Given the description of an element on the screen output the (x, y) to click on. 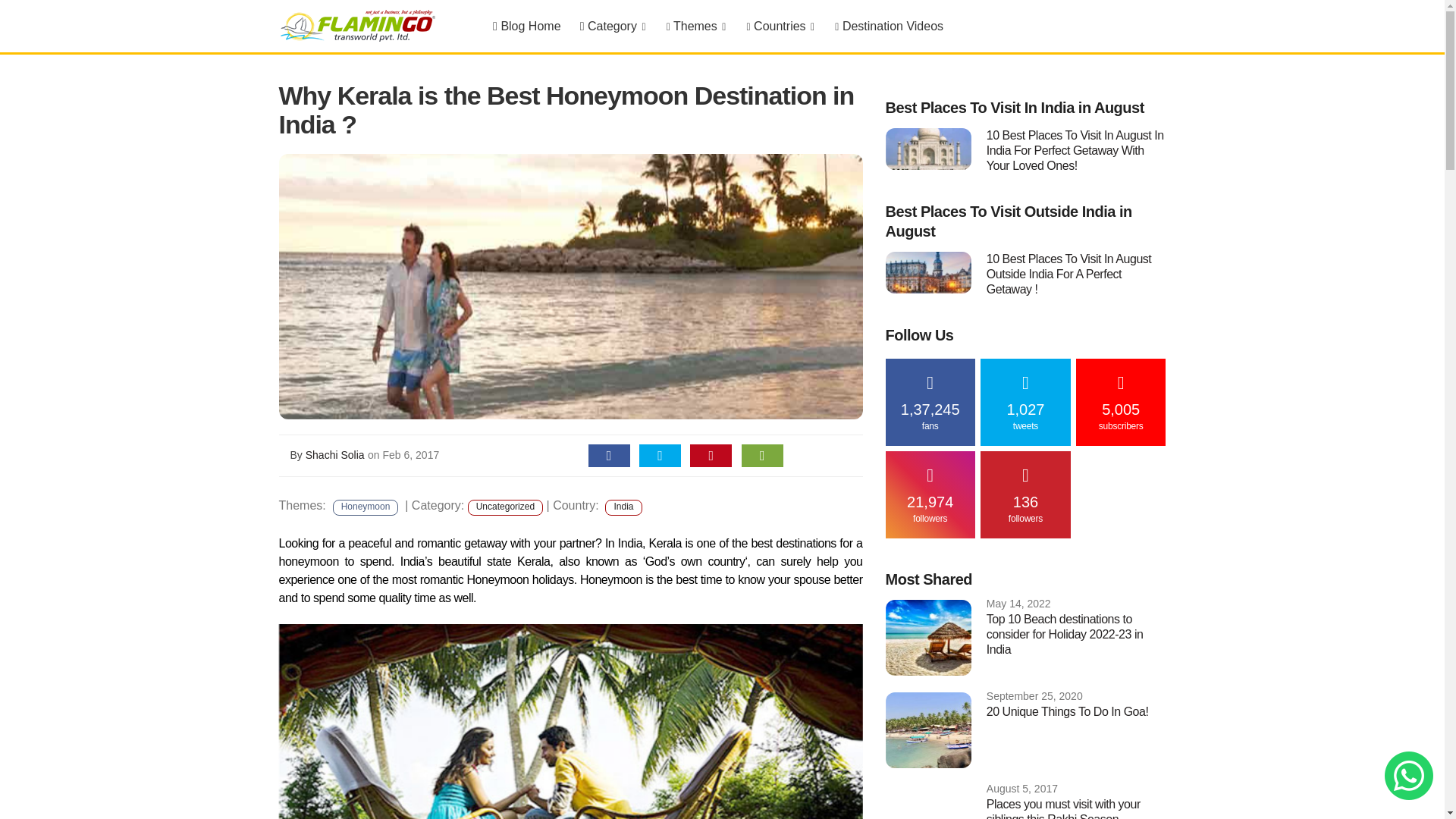
Blog Home (526, 26)
I am looking for !! (1408, 775)
Category (612, 26)
Themes (695, 26)
